Given the description of an element on the screen output the (x, y) to click on. 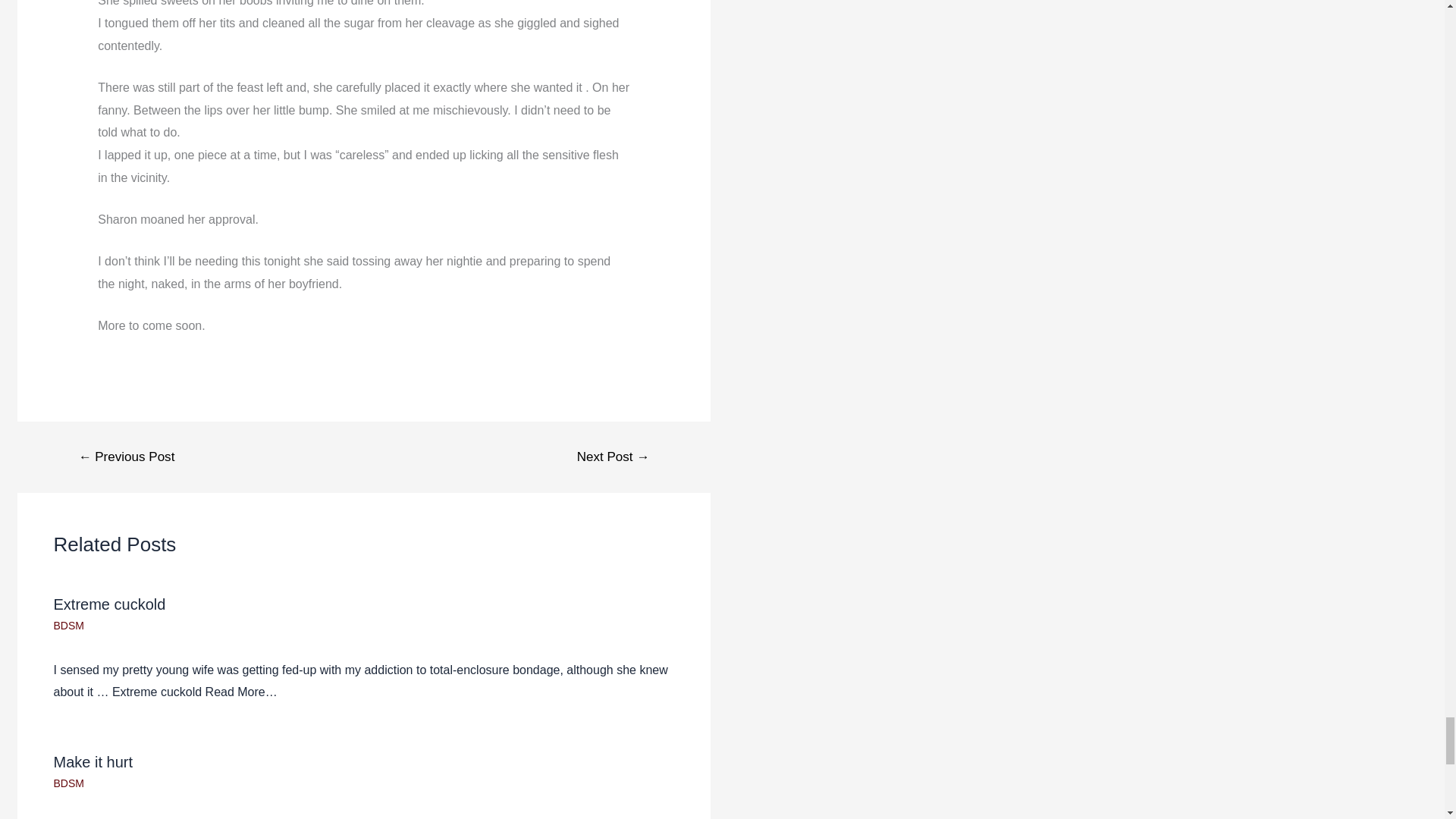
BDSM (67, 625)
BDSM (67, 783)
Make it hurt (92, 761)
Extreme cuckold (108, 604)
